Given the description of an element on the screen output the (x, y) to click on. 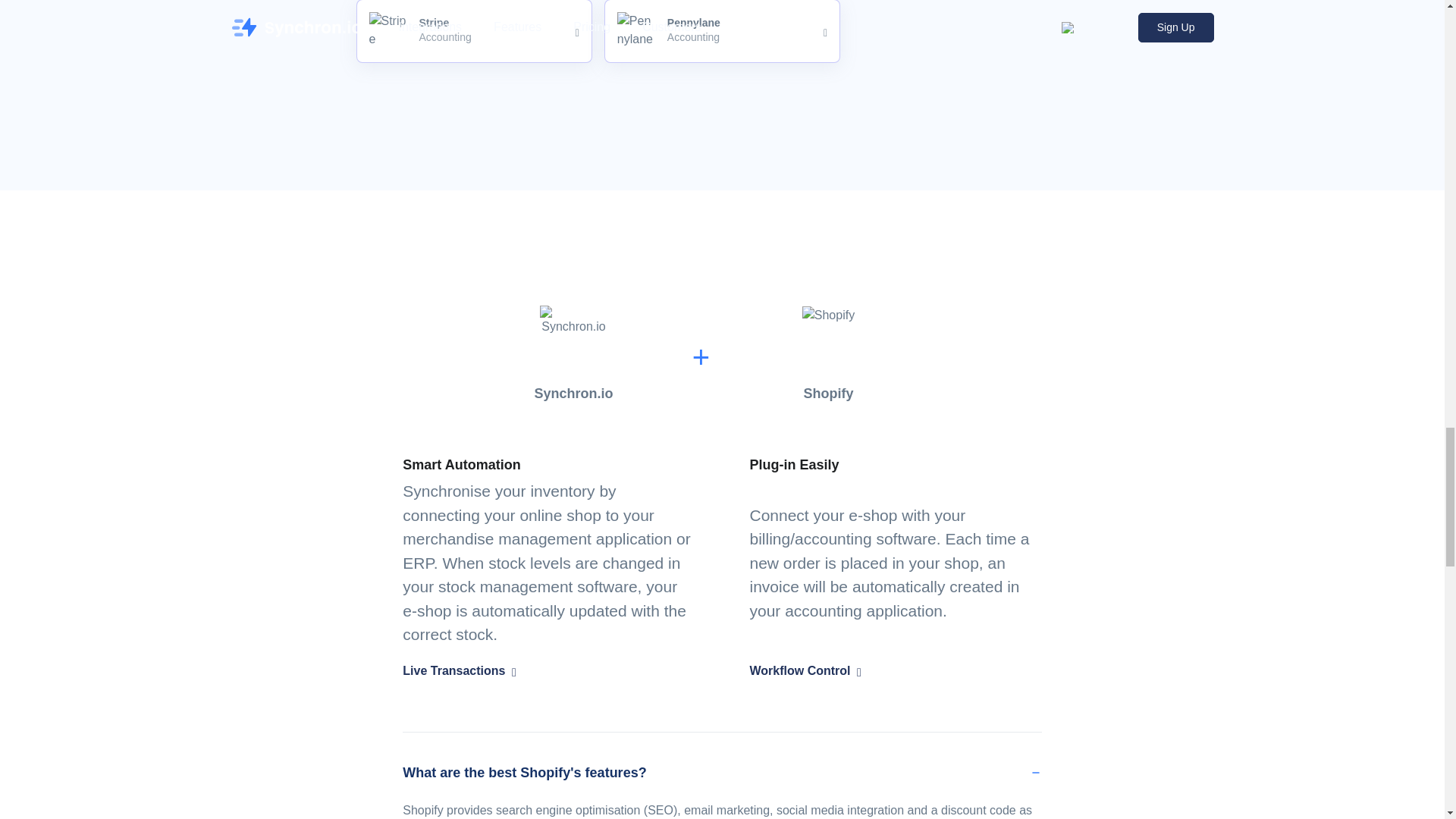
Live Transactions (474, 31)
